Given the description of an element on the screen output the (x, y) to click on. 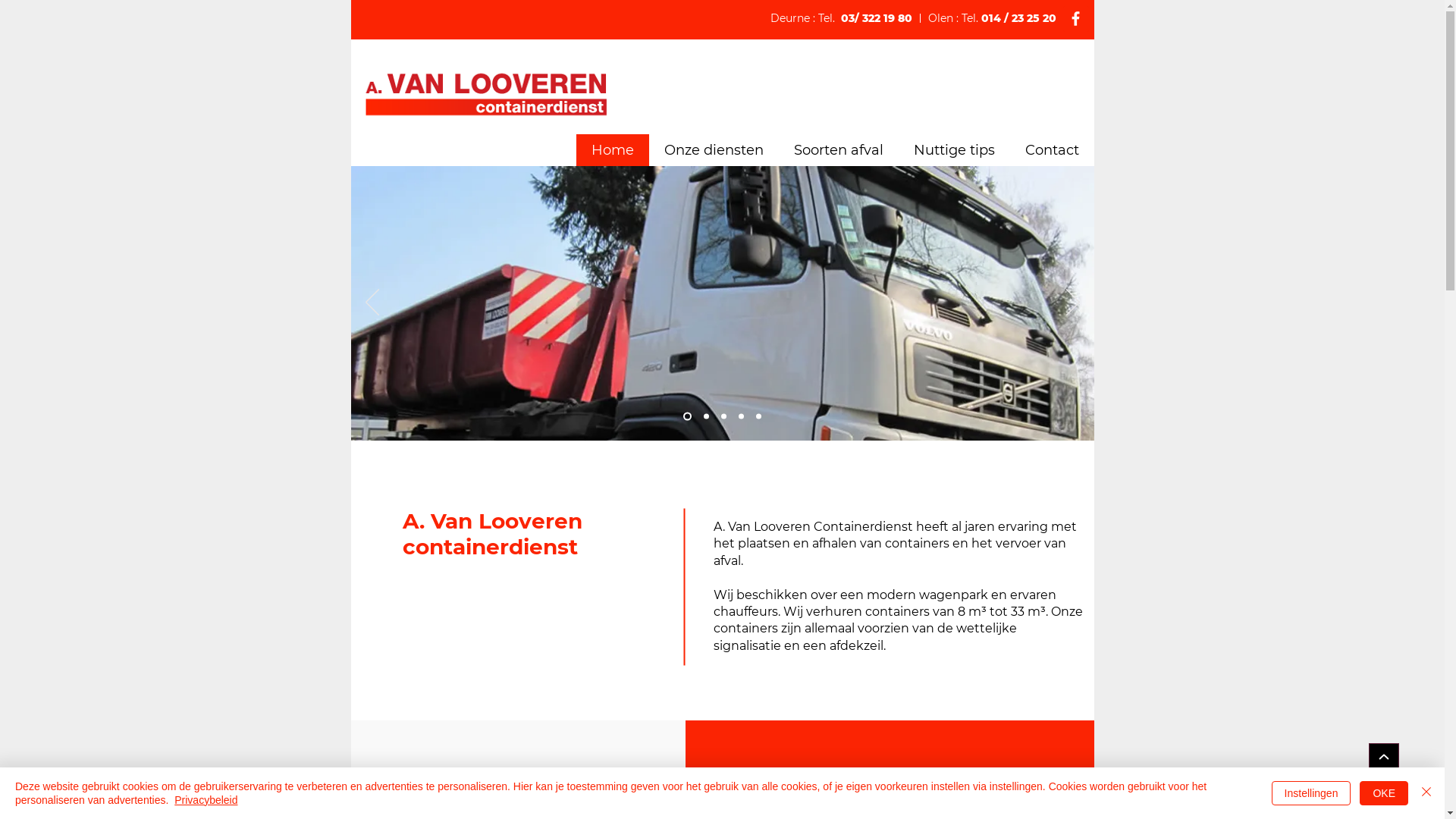
Contact Element type: text (1052, 150)
Home Element type: text (612, 150)
Onze diensten Element type: text (713, 150)
OKE Element type: text (1383, 793)
A. Van Looveren Element type: hover (485, 92)
Privacybeleid Element type: text (205, 799)
Instellingen Element type: text (1311, 793)
Nuttige tips Element type: text (953, 150)
03/ 322 19 80 Element type: text (875, 18)
014 / 23 25 20 Element type: text (1018, 18)
